Given the description of an element on the screen output the (x, y) to click on. 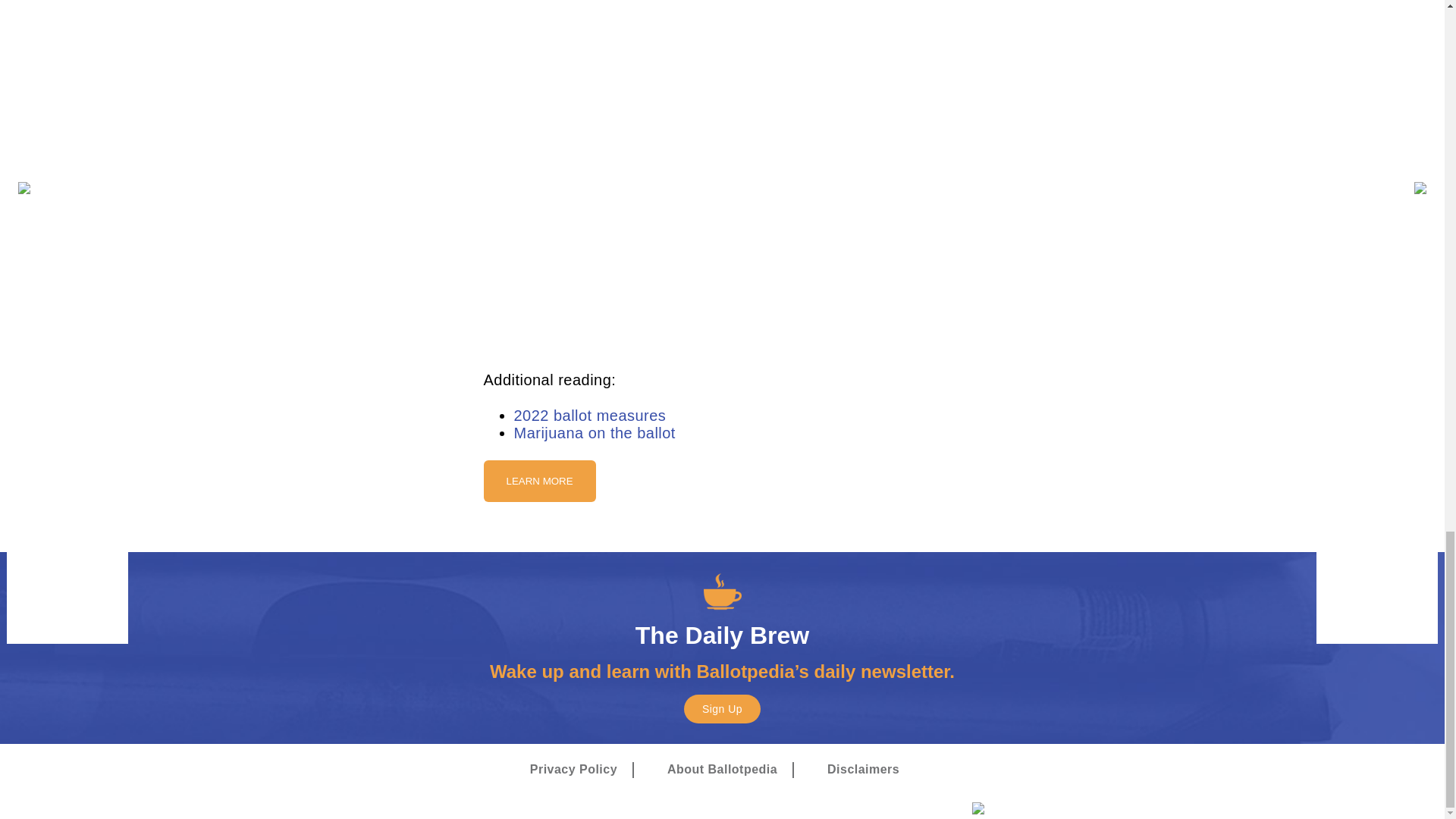
Disclaimers (863, 770)
Marijuana on the ballot (594, 433)
2022 ballot measures (589, 415)
LEARN MORE (539, 480)
Sign Up (722, 708)
LEARN MORE (539, 481)
About Ballotpedia (721, 770)
Privacy Policy (573, 770)
